Given the description of an element on the screen output the (x, y) to click on. 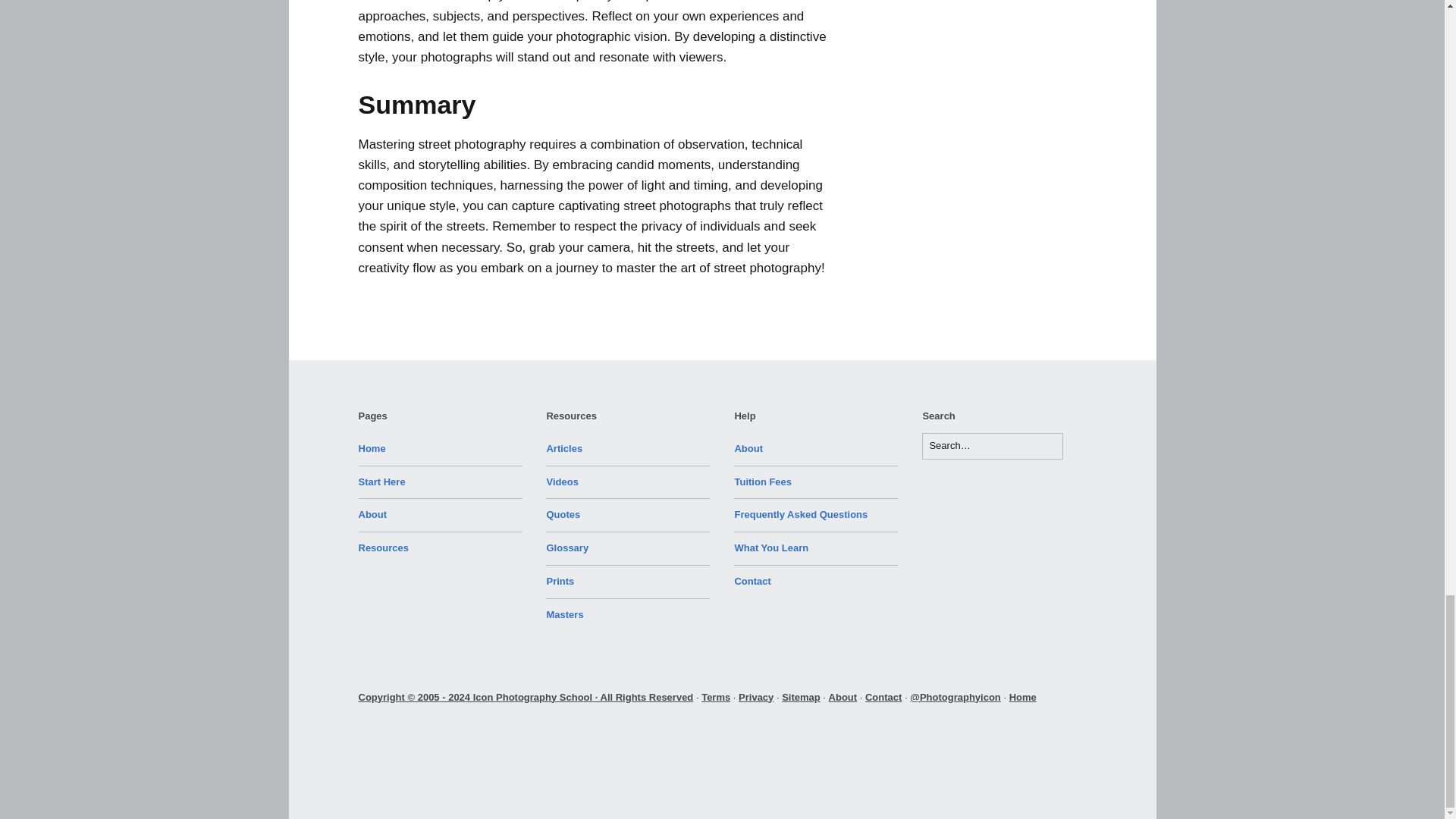
Videos (562, 481)
Press Enter to submit your search (991, 446)
Photography Videos (562, 481)
Photography Prints (559, 581)
Glossary (567, 547)
Photography Articles (564, 448)
Tuition Fees (762, 481)
Advertisement (700, 746)
Resources (382, 547)
Prints (559, 581)
Masters Of Photography (564, 614)
Articles (564, 448)
About (372, 514)
